Given the description of an element on the screen output the (x, y) to click on. 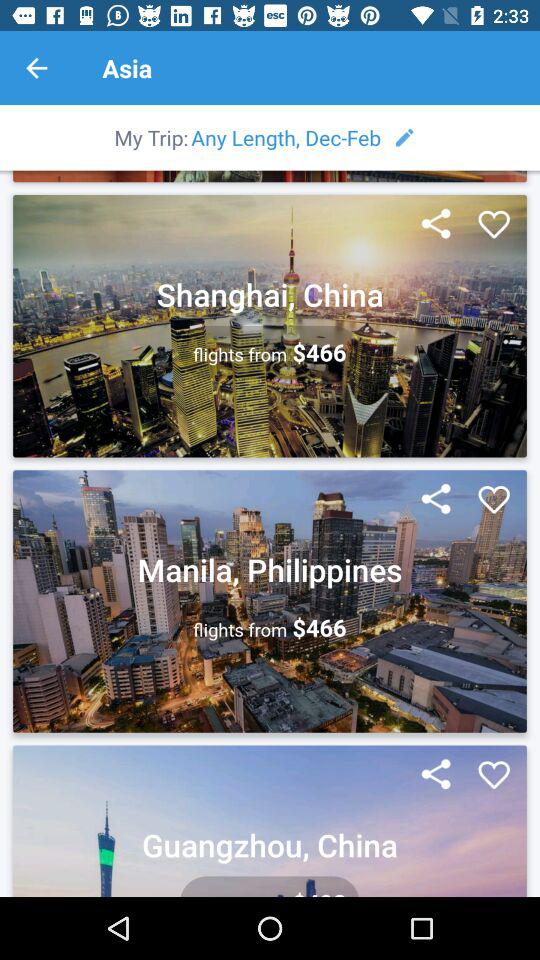
favorite (494, 225)
